Given the description of an element on the screen output the (x, y) to click on. 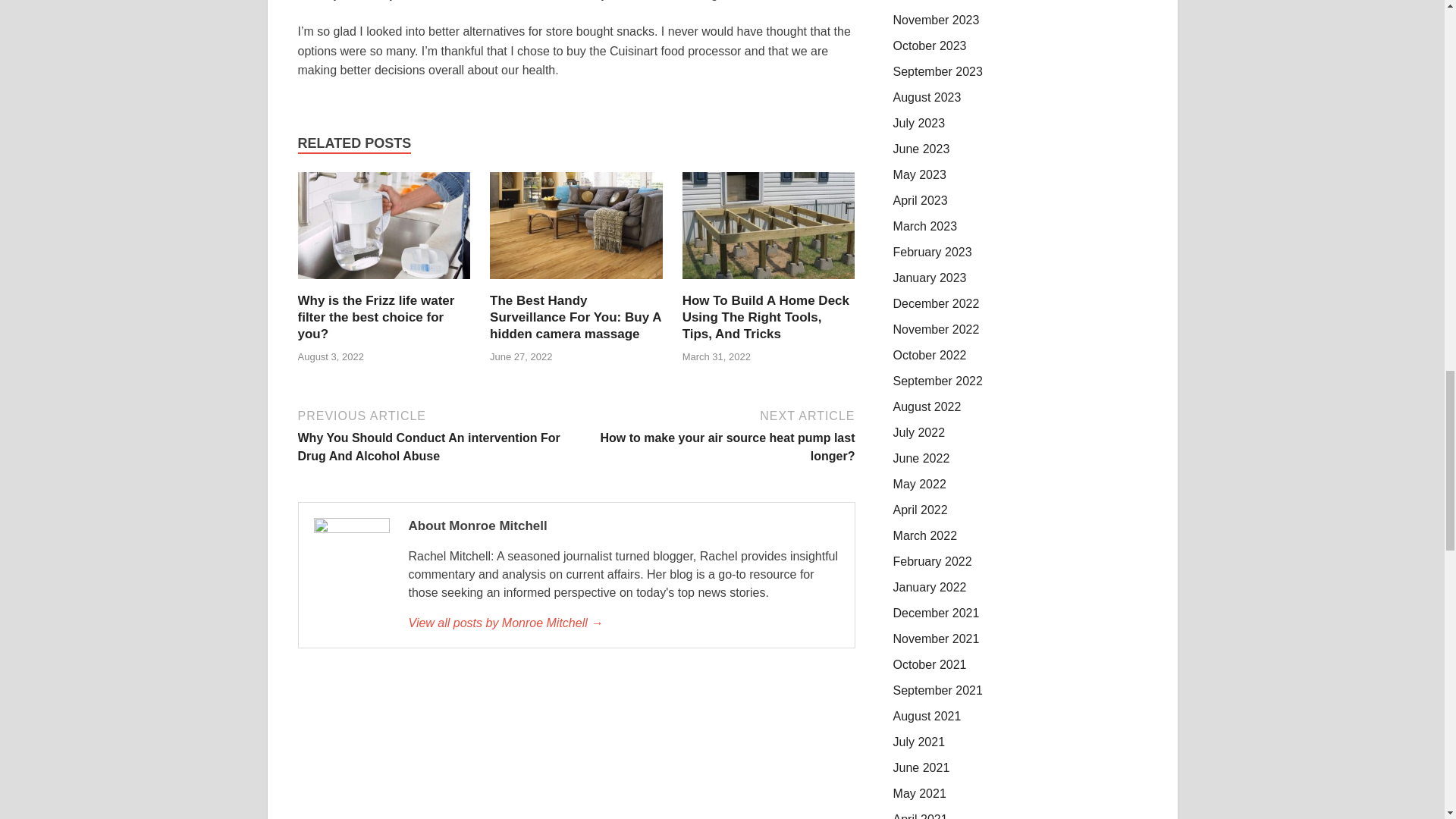
Why is the Frizz life water filter the best choice for you? (375, 317)
Why is the Frizz life water filter the best choice for you? (383, 282)
Monroe Mitchell (622, 623)
Why is the Frizz life water filter the best choice for you? (375, 317)
